Given the description of an element on the screen output the (x, y) to click on. 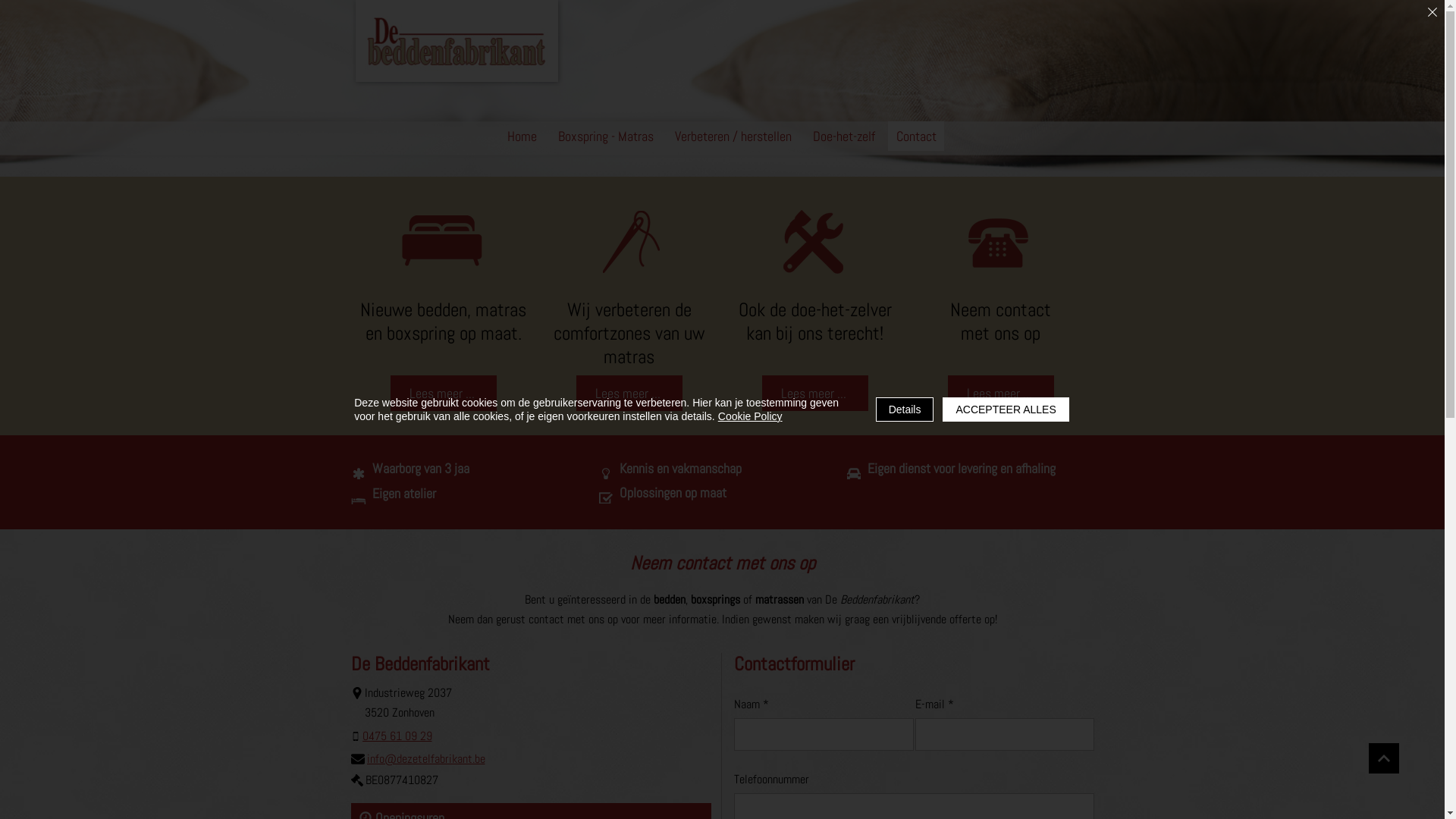
Verbeteren / herstellen Element type: text (733, 135)
BE0877410827 Element type: text (397, 779)
Lees meer ... Element type: text (1000, 393)
Lees meer ... Element type: text (814, 393)
ACCEPTEER ALLES Element type: text (1005, 409)
Cookie Policy Element type: text (750, 416)
Doe-het-zelf Element type: text (843, 135)
Home Element type: text (521, 135)
Boxspring - Matras Element type: text (605, 135)
Lees meer ... Element type: text (442, 393)
Details Element type: text (904, 409)
info@dezetelfabrikant.be Element type: text (420, 758)
Lees meer ... Element type: text (629, 393)
Contact Element type: text (916, 135)
0475 61 09 29 Element type: text (394, 735)
